Given the description of an element on the screen output the (x, y) to click on. 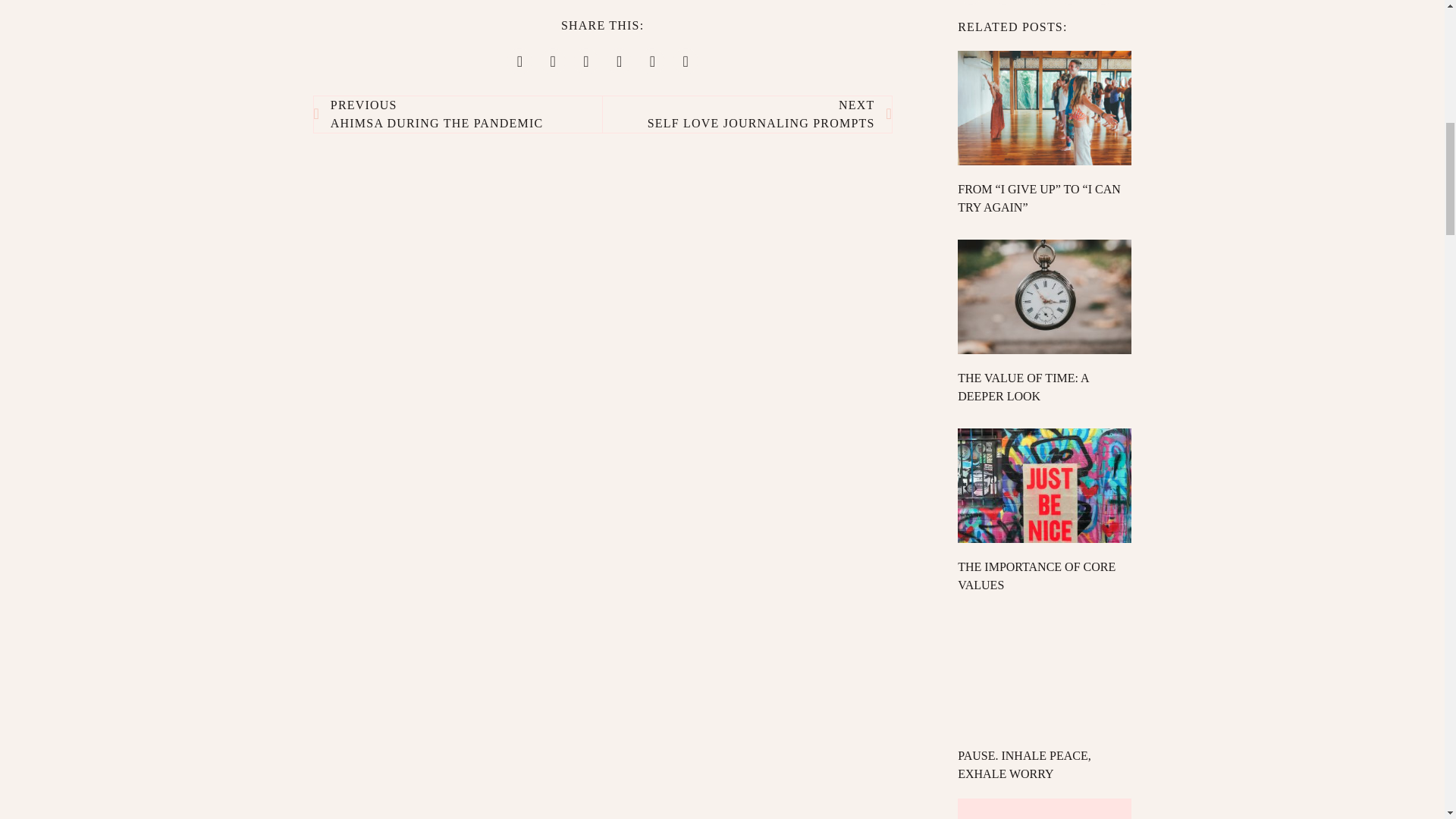
PAUSE. INHALE PEACE, EXHALE WORRY (746, 114)
THE VALUE OF TIME: A DEEPER LOOK (1024, 764)
THE IMPORTANCE OF CORE VALUES (1022, 386)
